Given the description of an element on the screen output the (x, y) to click on. 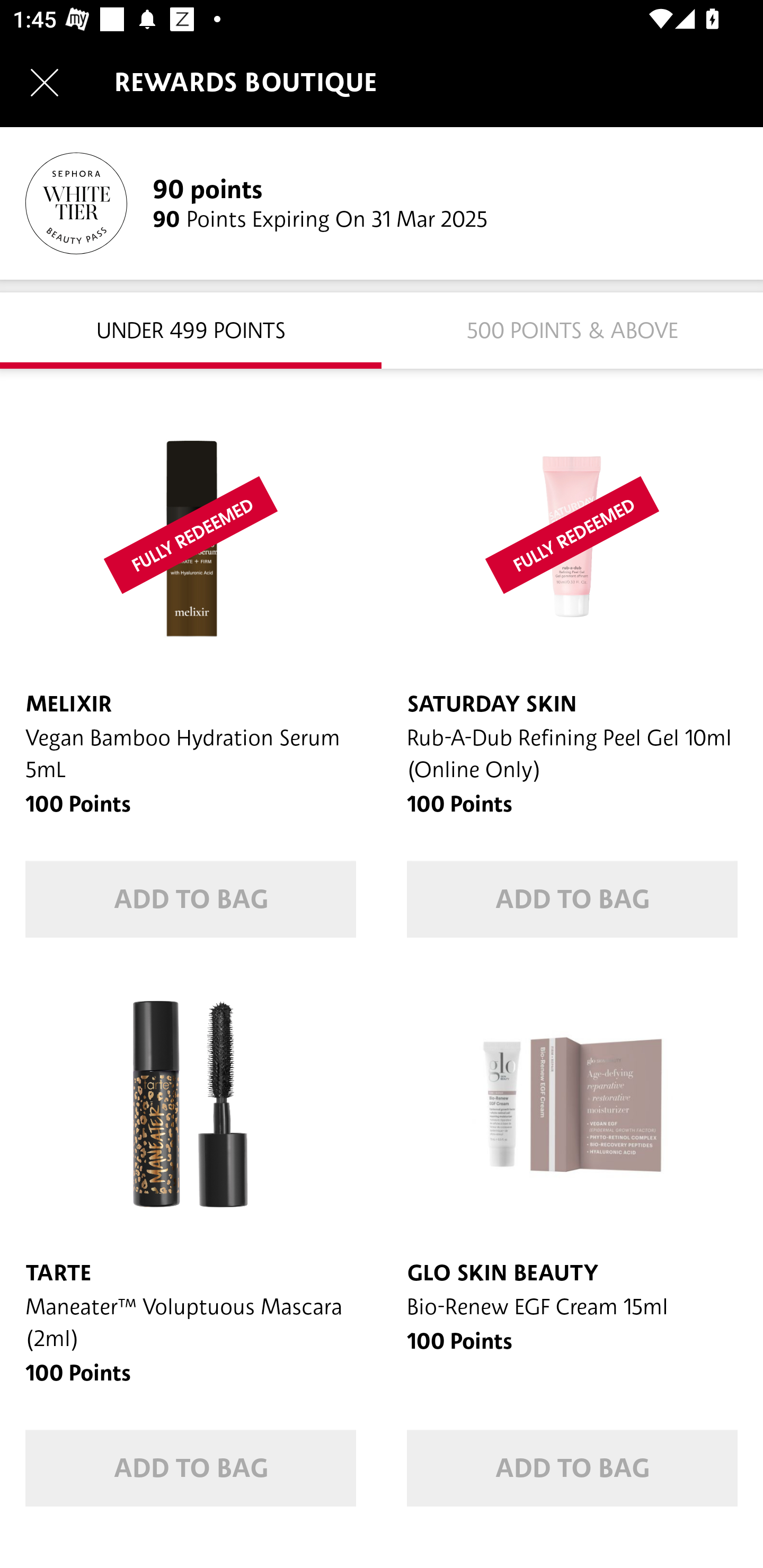
Navigate up (44, 82)
500 Points & Above 500 POINTS & ABOVE (572, 329)
ADD TO BAG (190, 898)
ADD TO BAG (571, 898)
ADD TO BAG (190, 1468)
ADD TO BAG (571, 1468)
